Given the description of an element on the screen output the (x, y) to click on. 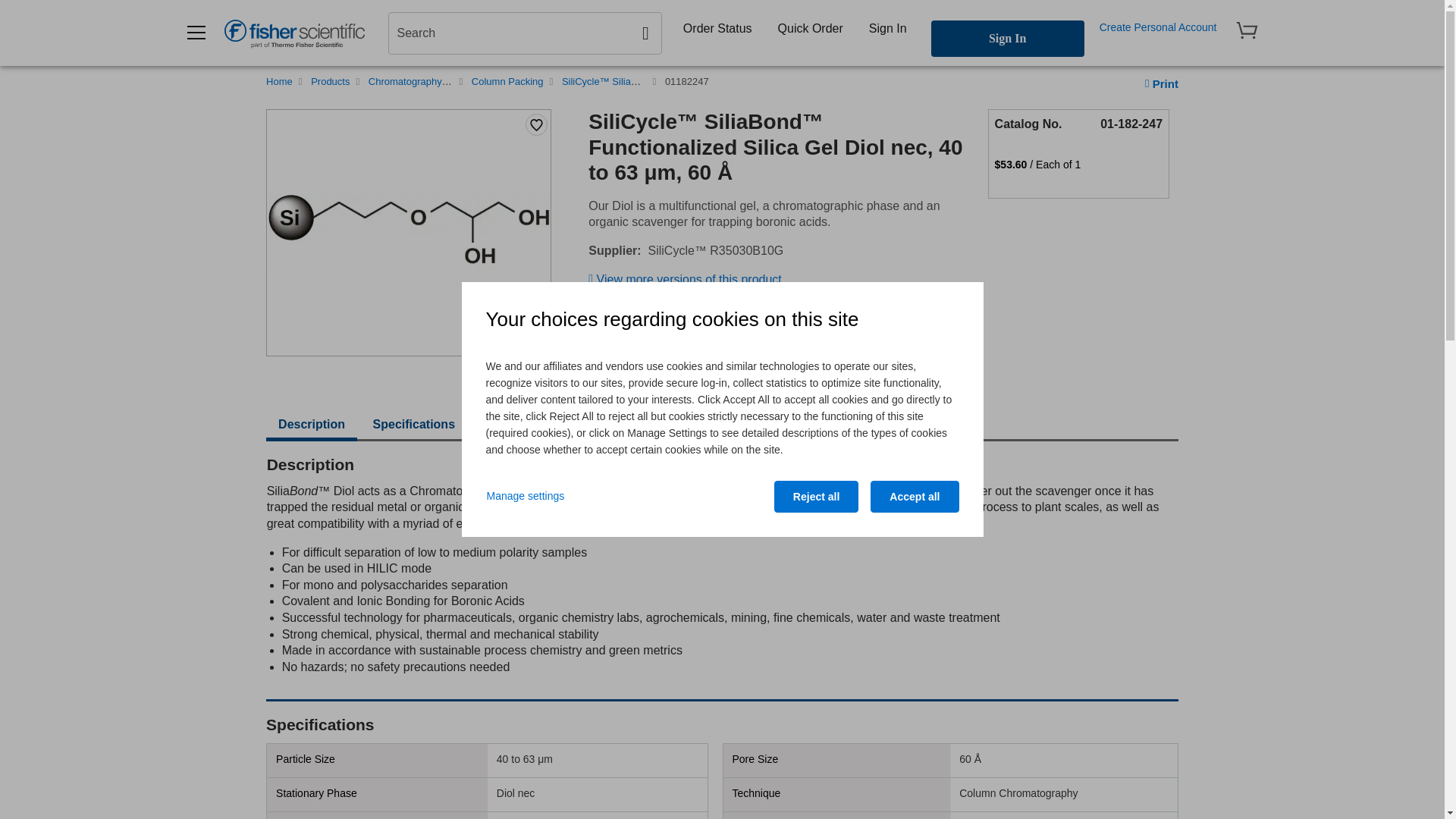
Print (1160, 83)
Quick Order (809, 28)
Column Packing (507, 81)
Products (330, 81)
Home (279, 81)
Chromatography Columns and Cartridges (459, 81)
Order Status (717, 28)
Create Personal Account (1158, 27)
Sign In (887, 28)
01182247 (687, 81)
Sign In (1007, 38)
